Given the description of an element on the screen output the (x, y) to click on. 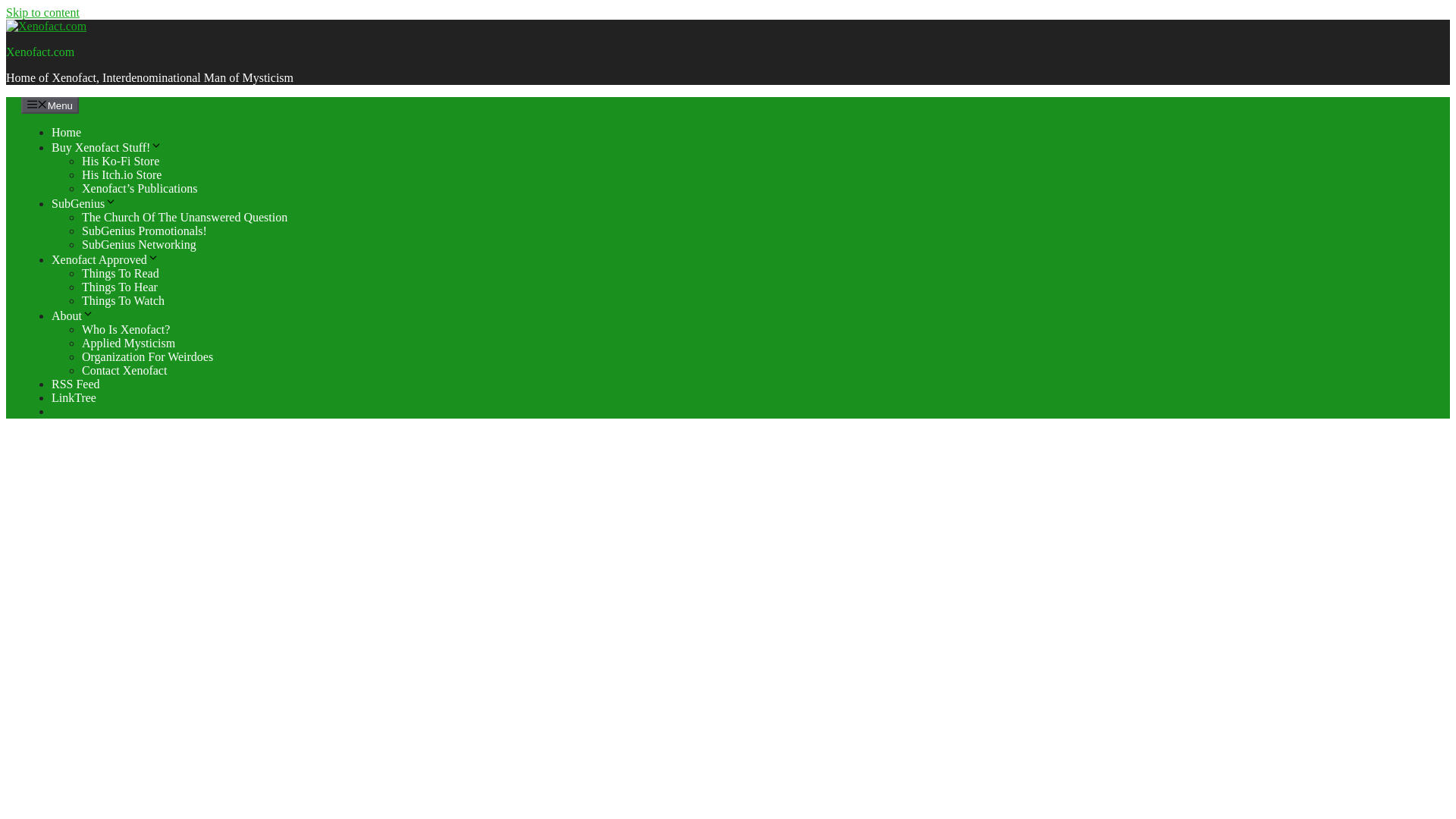
Buy Xenofact Stuff! (105, 146)
The Church Of The Unanswered Question (183, 216)
SubGenius Networking (138, 244)
Things To Read (119, 273)
Who Is Xenofact? (125, 328)
SubGenius (83, 203)
Things To Hear (119, 286)
Xenofact.com (39, 51)
Skip to content (42, 11)
Contact Xenofact (124, 369)
Applied Mysticism (127, 342)
His Itch.io Store (121, 174)
SubGenius Promotionals! (143, 230)
Organization For Weirdoes (146, 356)
Skip to content (42, 11)
